Given the description of an element on the screen output the (x, y) to click on. 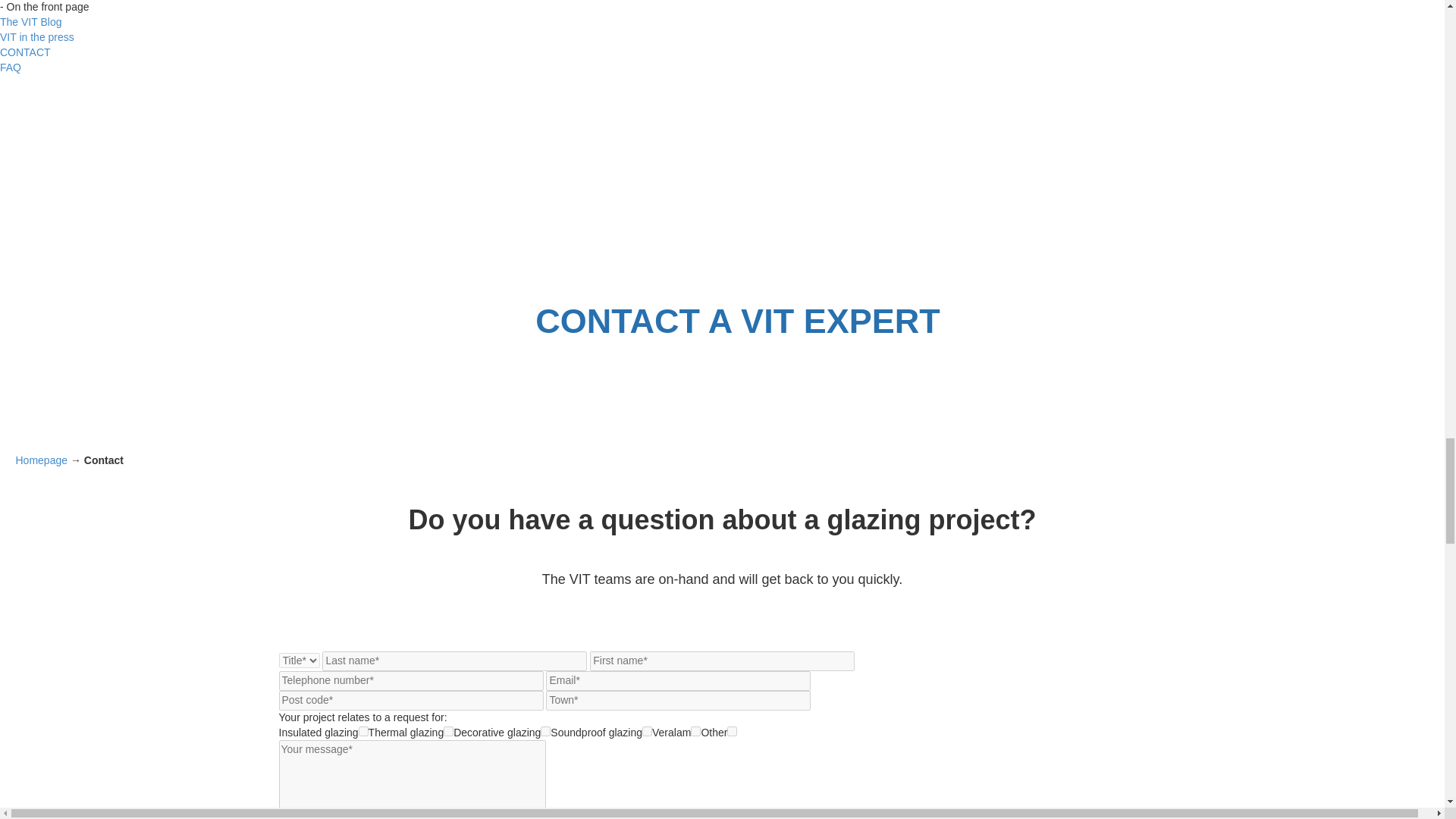
Thermal glazing (448, 731)
Insulated glazing (363, 731)
Soundproof glazing (647, 731)
Decorative glazing (545, 731)
Veralam (695, 731)
Other (731, 731)
